Given the description of an element on the screen output the (x, y) to click on. 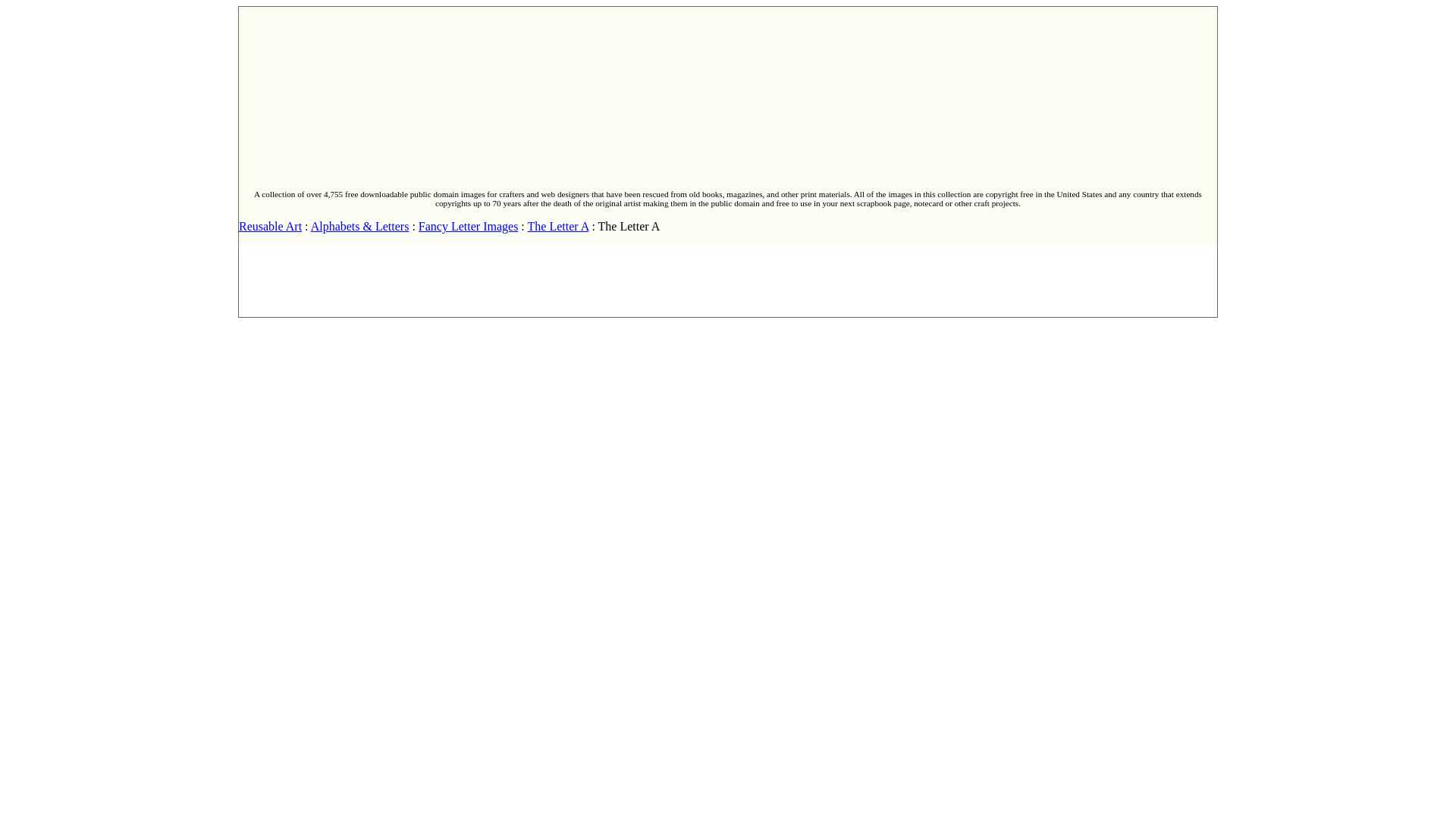
Fancy Letter Images (468, 226)
The Letter A (558, 226)
Reusable Art (269, 226)
